Given the description of an element on the screen output the (x, y) to click on. 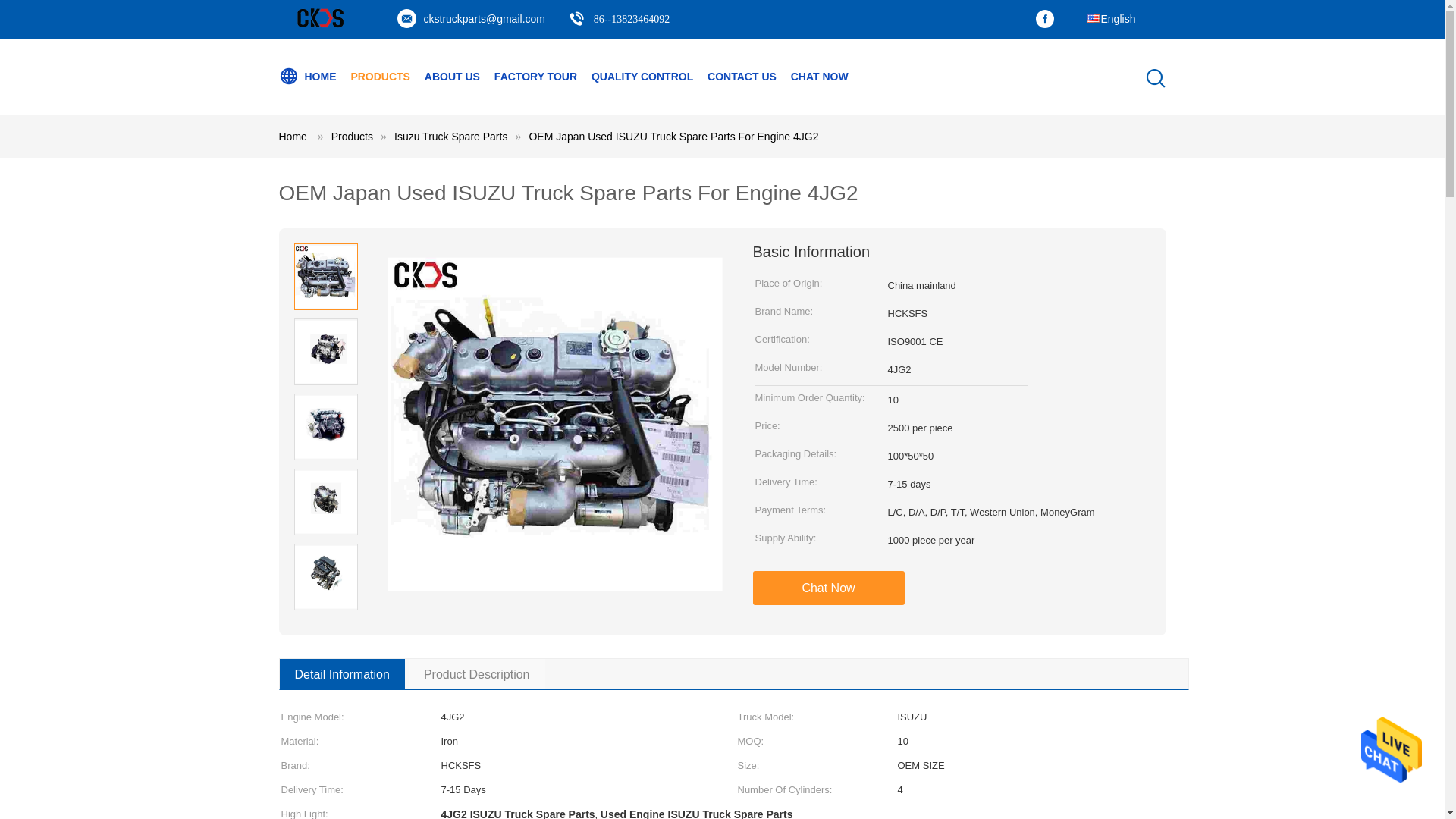
PRODUCTS (380, 76)
Foshan Changqisheng Auto Parts Co., Ltd. Facebook (1048, 19)
English (1109, 12)
HOME (307, 76)
